Given the description of an element on the screen output the (x, y) to click on. 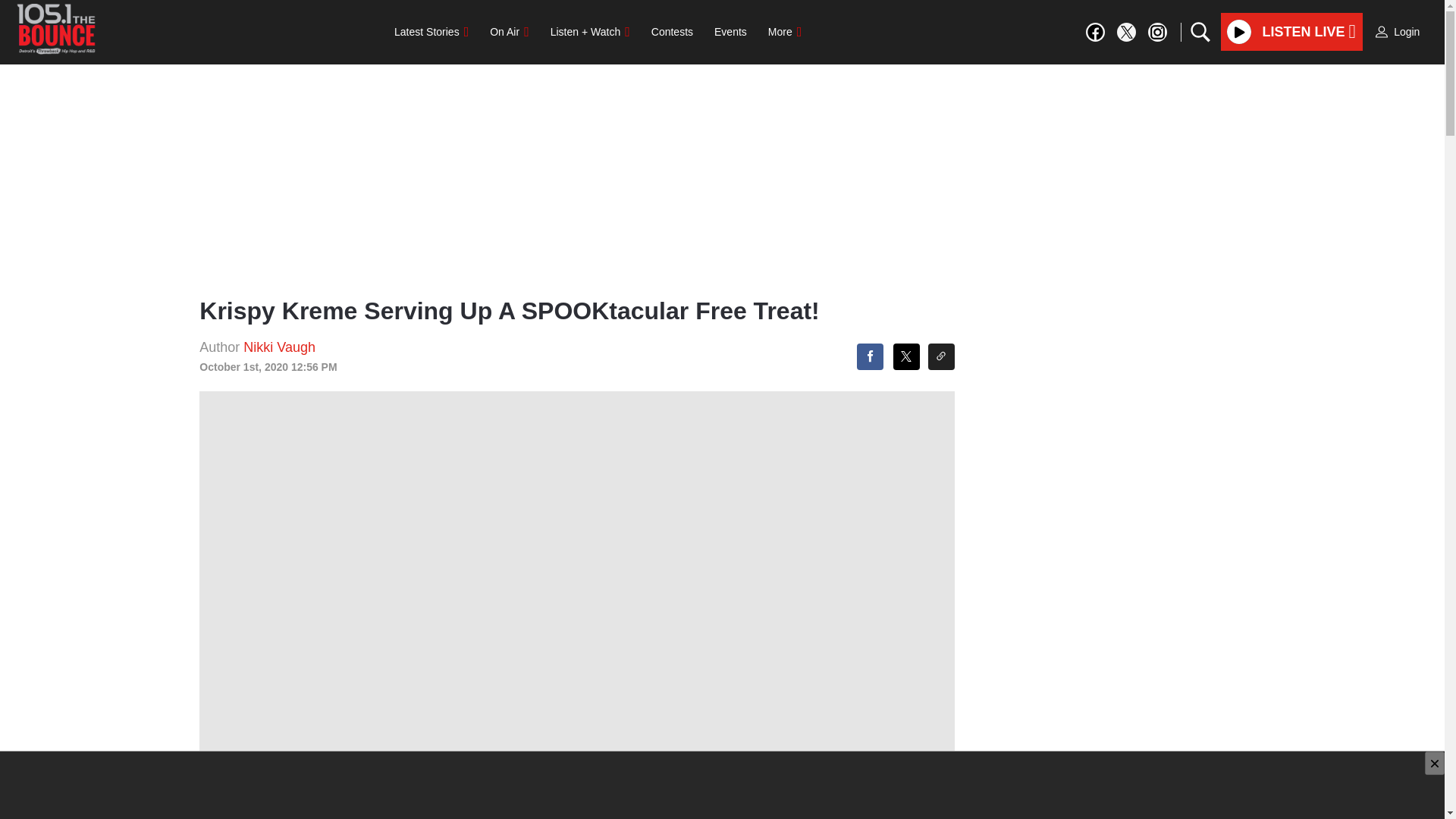
Close AdCheckmark indicating ad close (1434, 763)
Nikki Vaugh (279, 346)
On Air (508, 31)
Contests (671, 31)
More (784, 31)
Latest Stories (431, 31)
Events (730, 31)
